Given the description of an element on the screen output the (x, y) to click on. 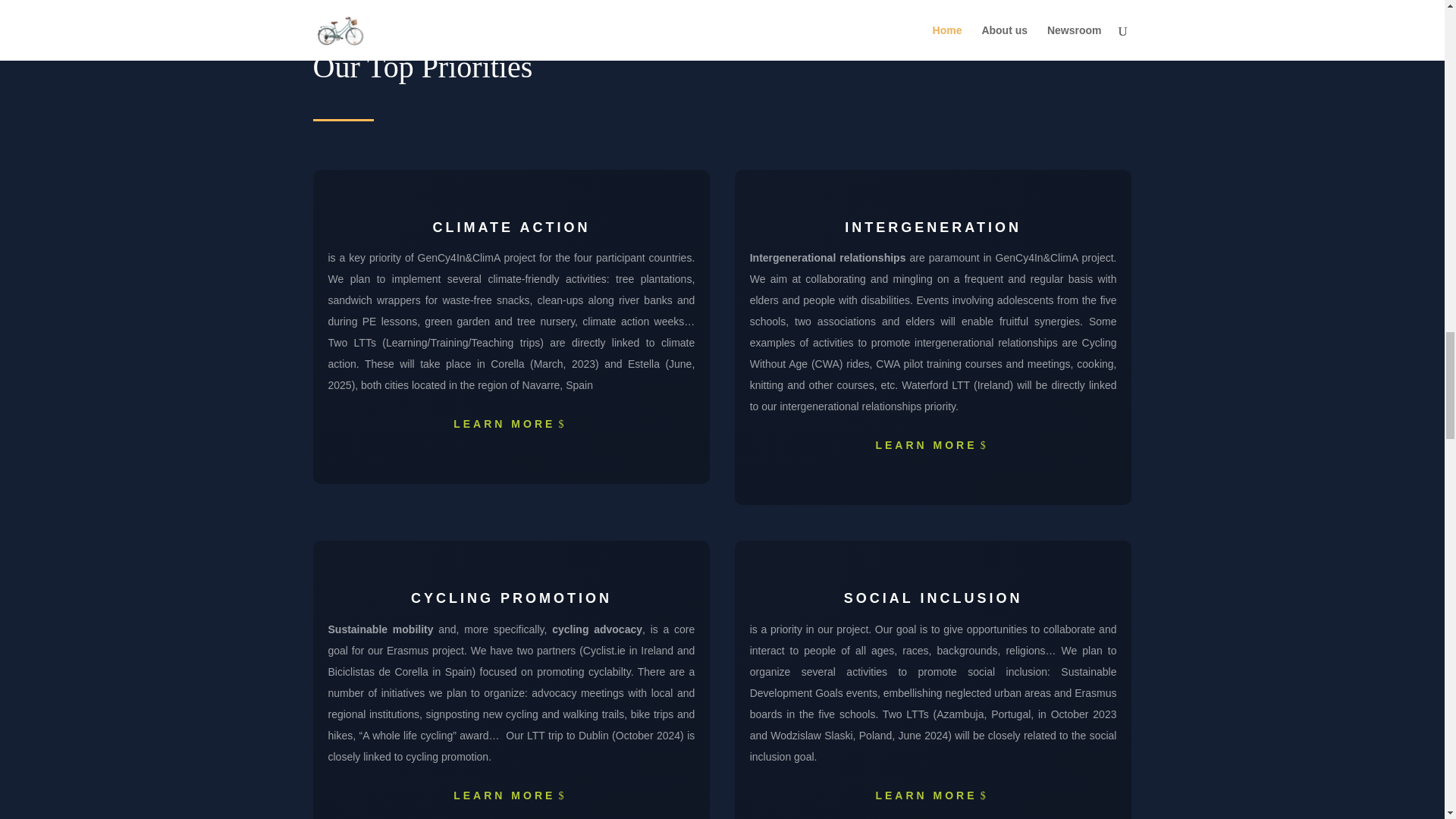
LEARN MORE (511, 789)
LEARN MORE (933, 789)
LEARN MORE (933, 440)
LEARN MORE (511, 419)
